Given the description of an element on the screen output the (x, y) to click on. 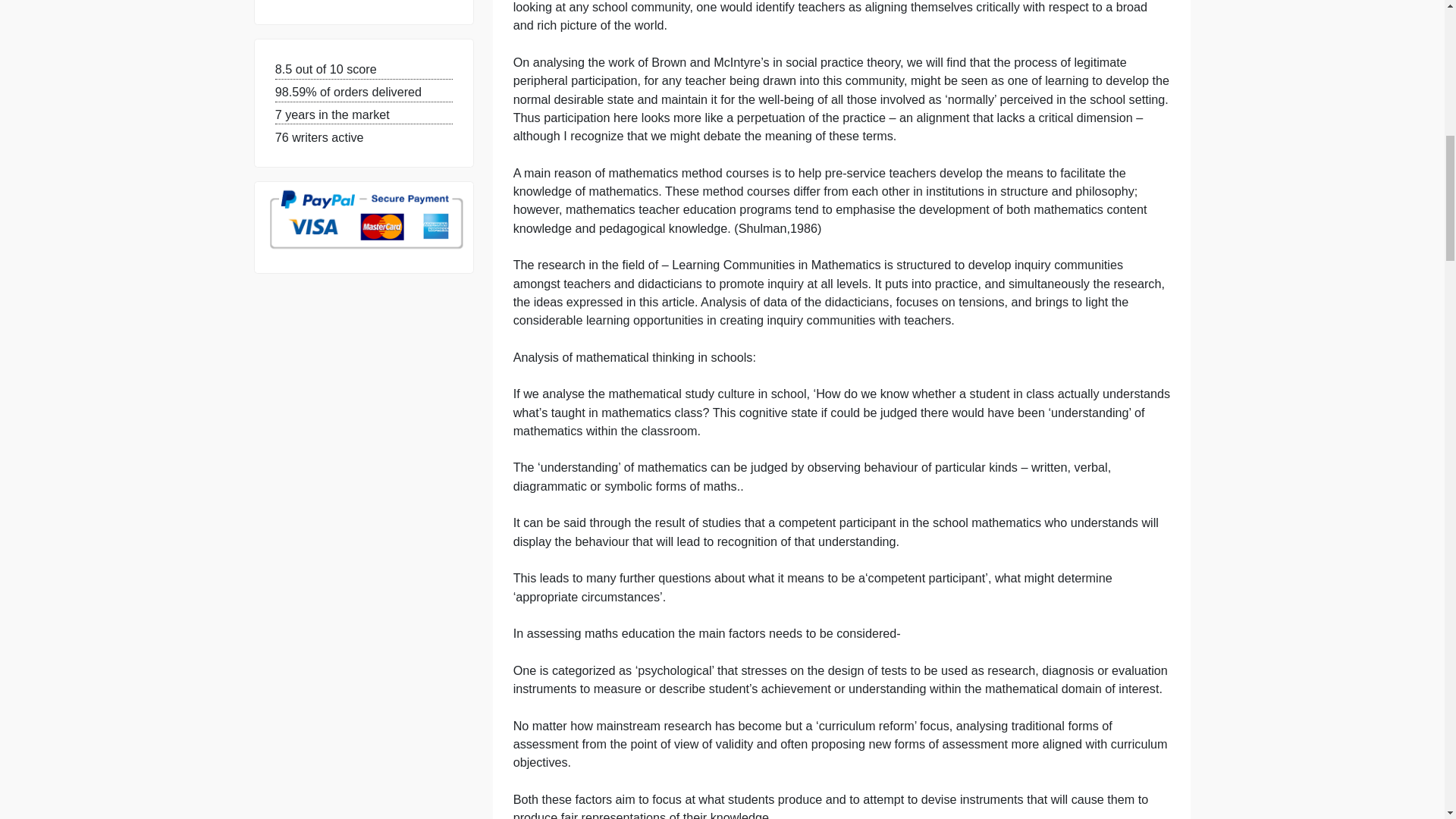
OUR WRITERS (354, 76)
WHY US (332, 5)
GUARANTEES (353, 34)
